Given the description of an element on the screen output the (x, y) to click on. 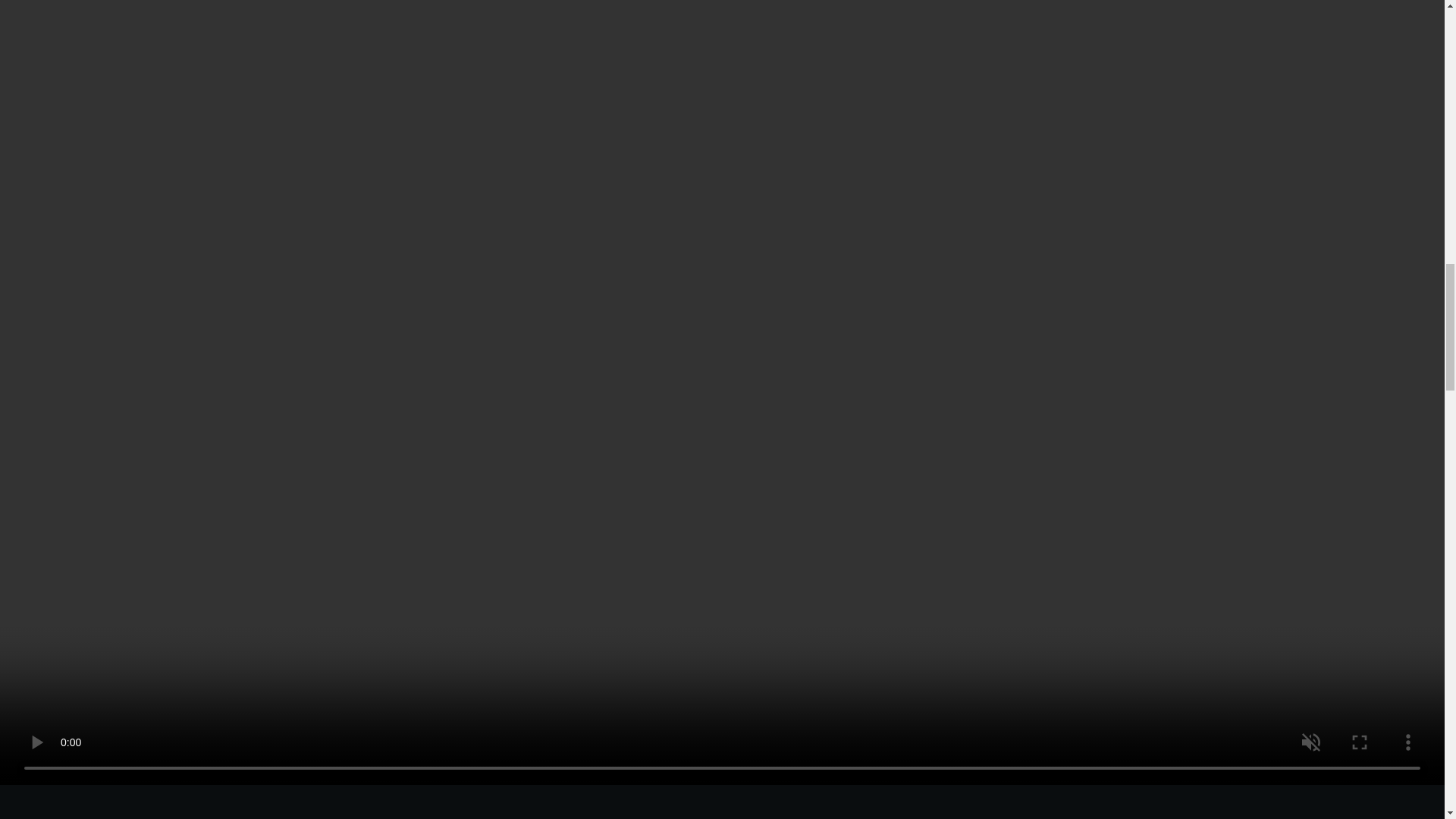
Mute (1421, 754)
